Given the description of an element on the screen output the (x, y) to click on. 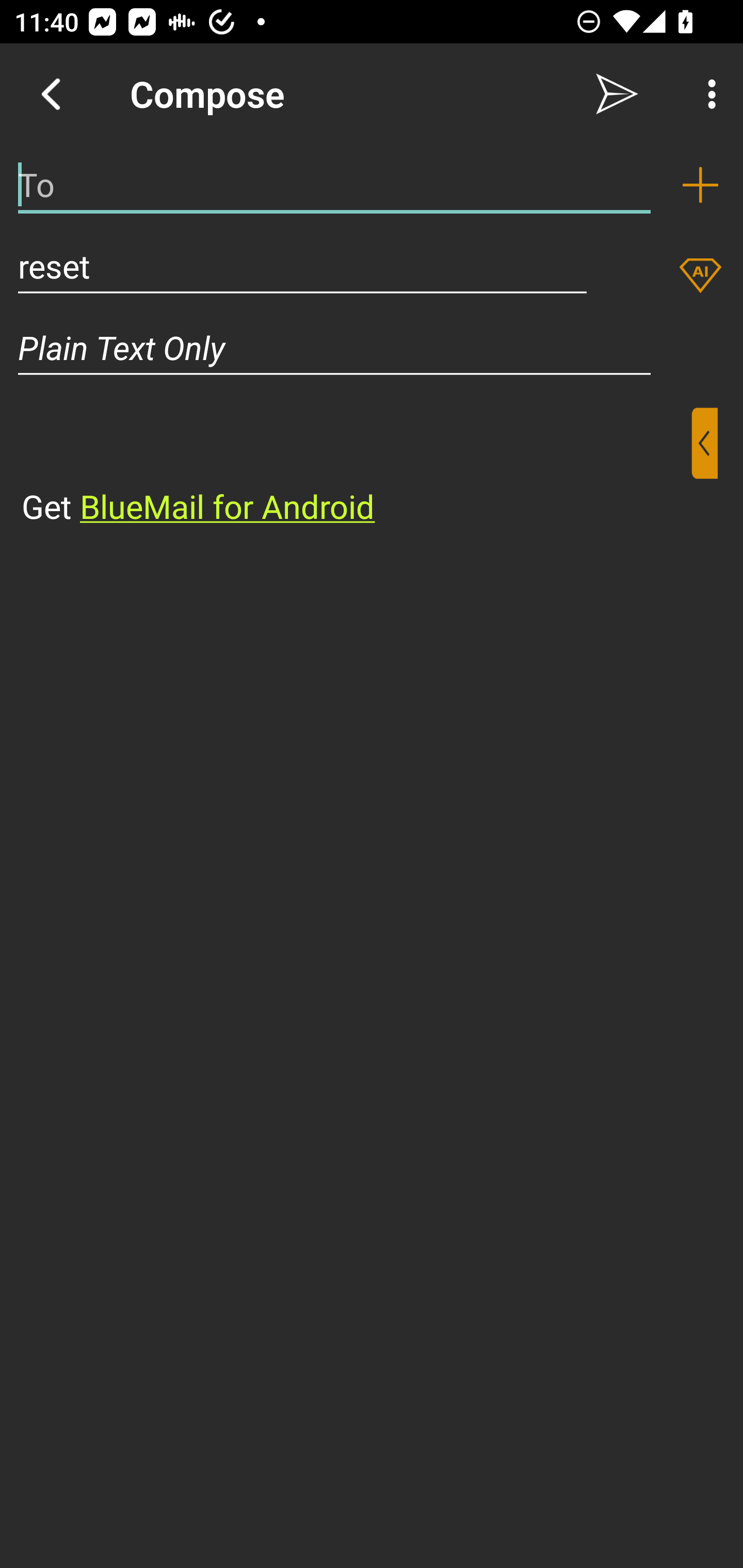
Navigate up (50, 93)
Send (616, 93)
More Options (706, 93)
To (334, 184)
Add recipient (To) (699, 184)
reset (302, 266)
Plain Text Only (371, 347)


⁣Get BlueMail for Android ​ (355, 468)
